Given the description of an element on the screen output the (x, y) to click on. 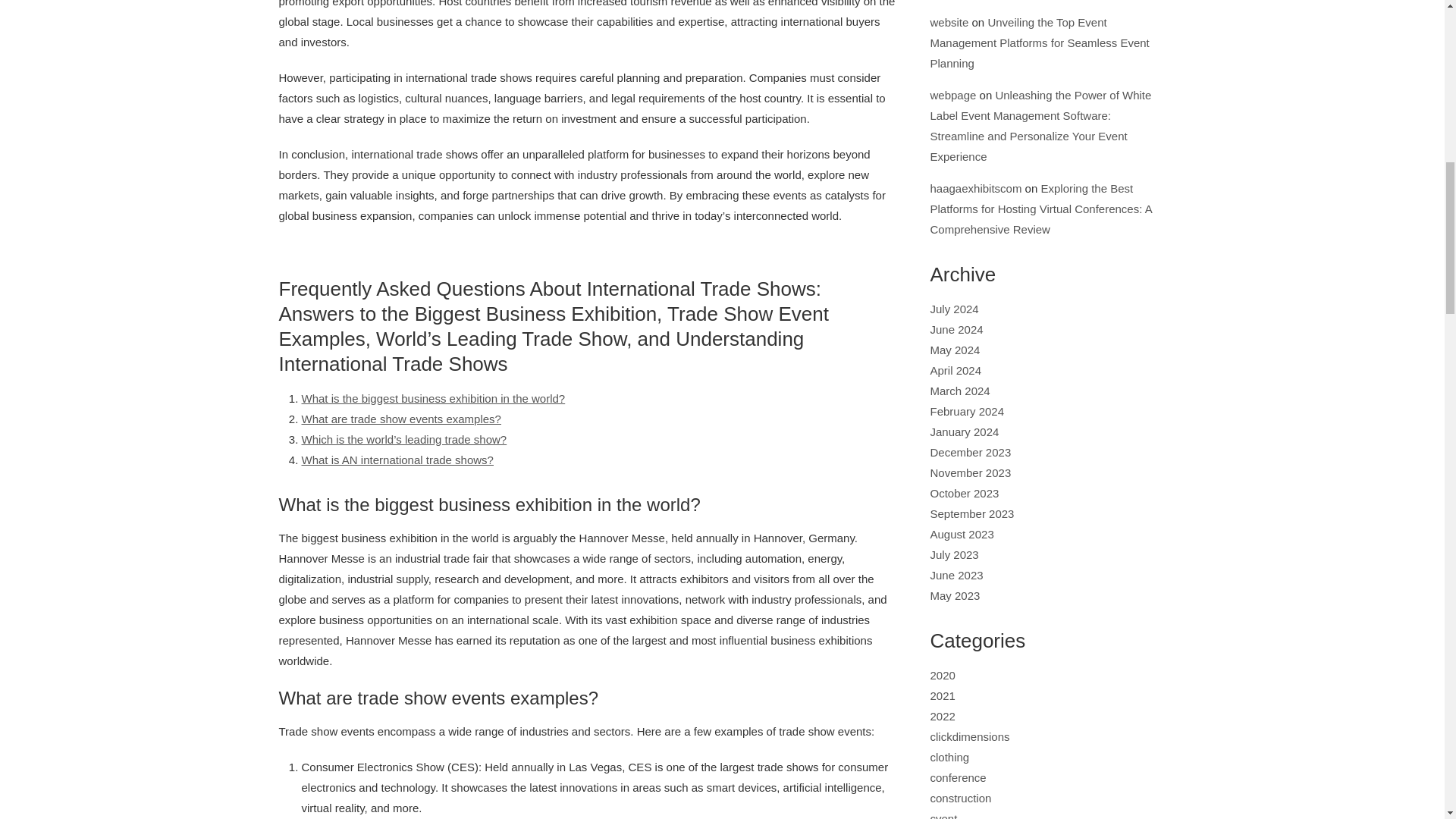
What is AN international trade shows? (397, 459)
What are trade show events examples? (400, 418)
What is the biggest business exhibition in the world? (433, 398)
